Given the description of an element on the screen output the (x, y) to click on. 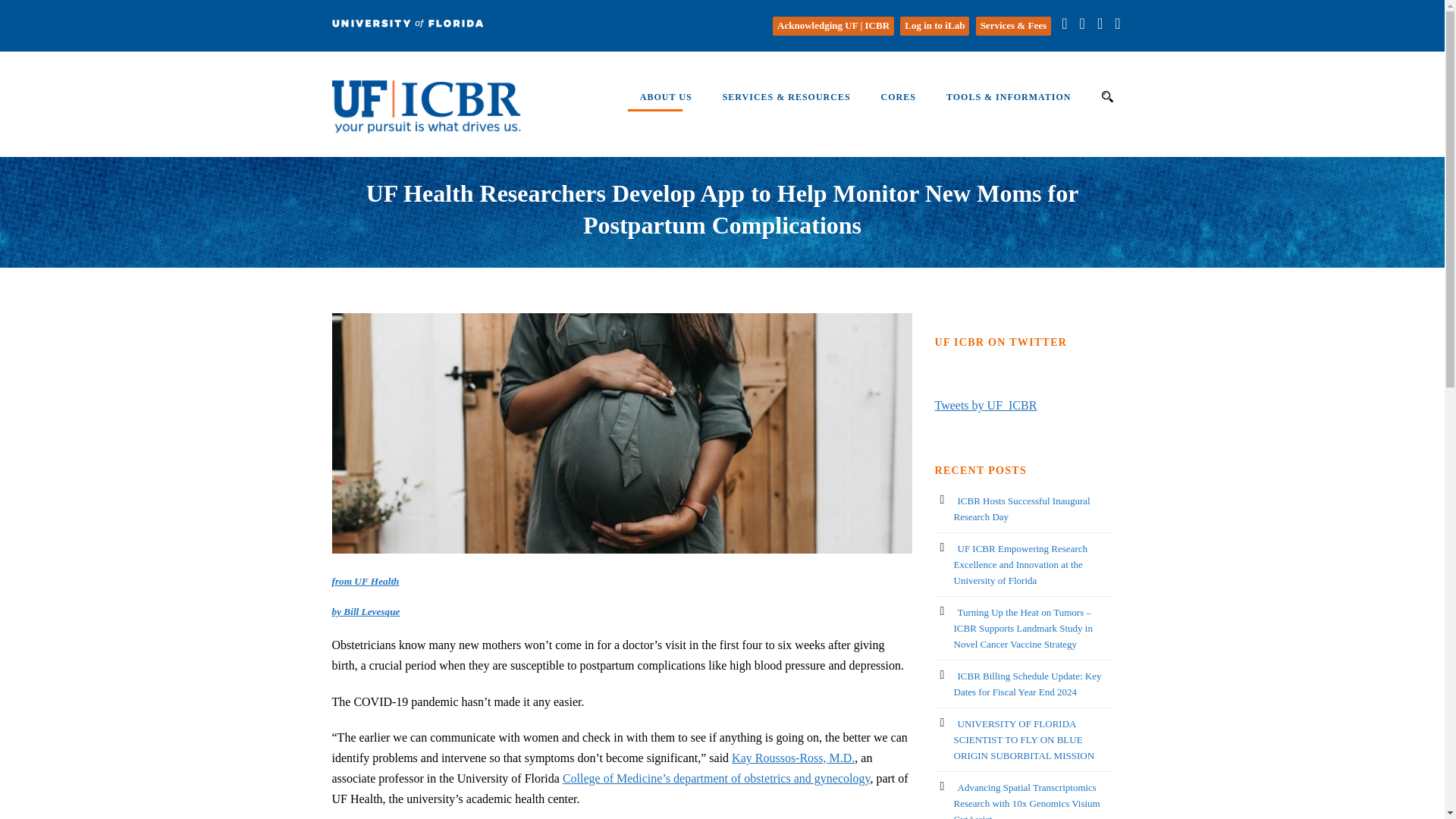
Log in to iLab (935, 25)
